Given the description of an element on the screen output the (x, y) to click on. 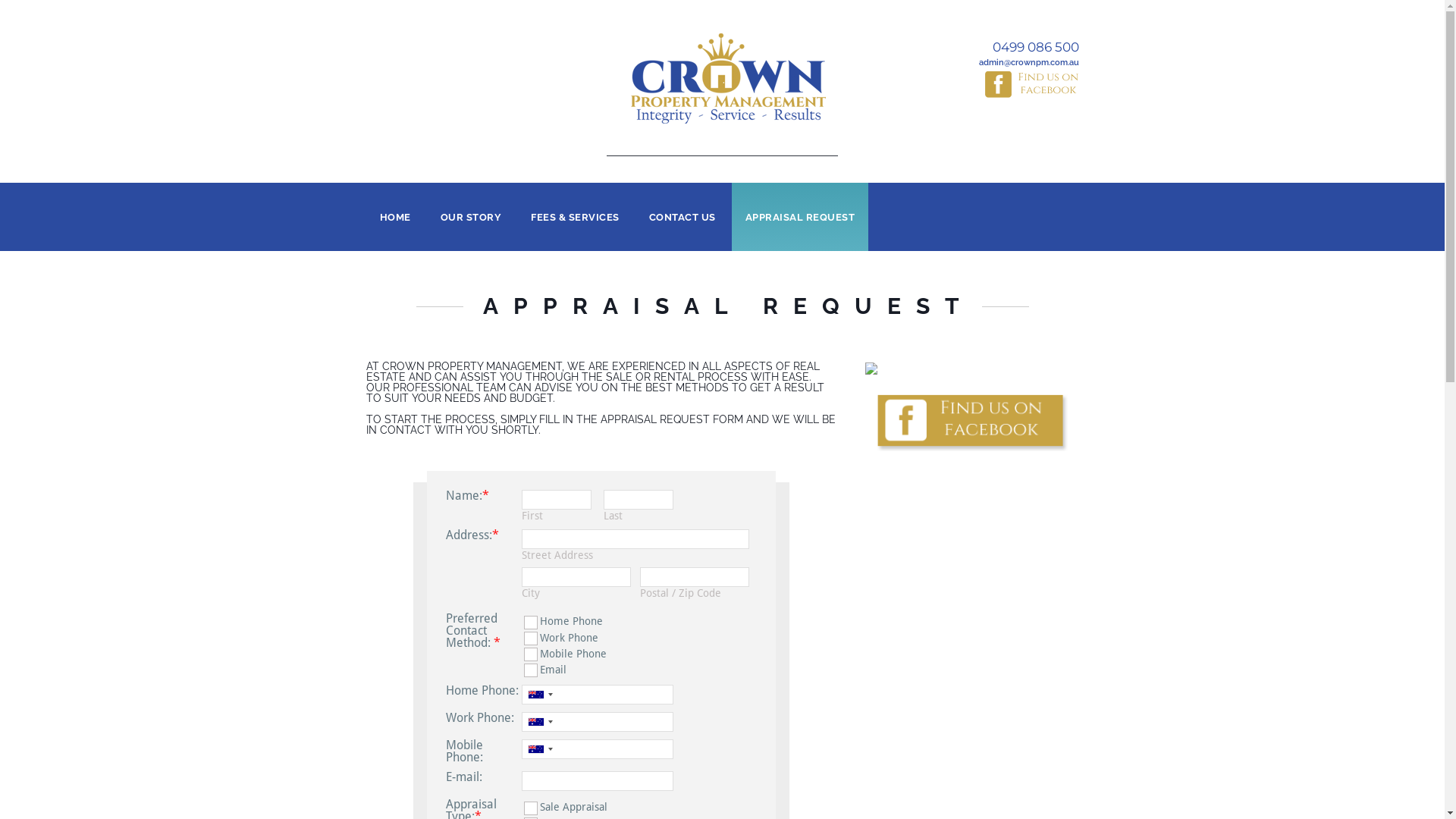
CONTACT US Element type: text (682, 216)
FEES & SERVICES Element type: text (575, 216)
Australia: +61 Element type: hover (538, 694)
OUR STORY Element type: text (470, 216)
Australia: +61 Element type: hover (538, 749)
admin@crownpm.com.au Element type: text (994, 62)
HOME Element type: text (394, 216)
APPRAISAL REQUEST Element type: text (799, 216)
Australia: +61 Element type: hover (538, 721)
